Given the description of an element on the screen output the (x, y) to click on. 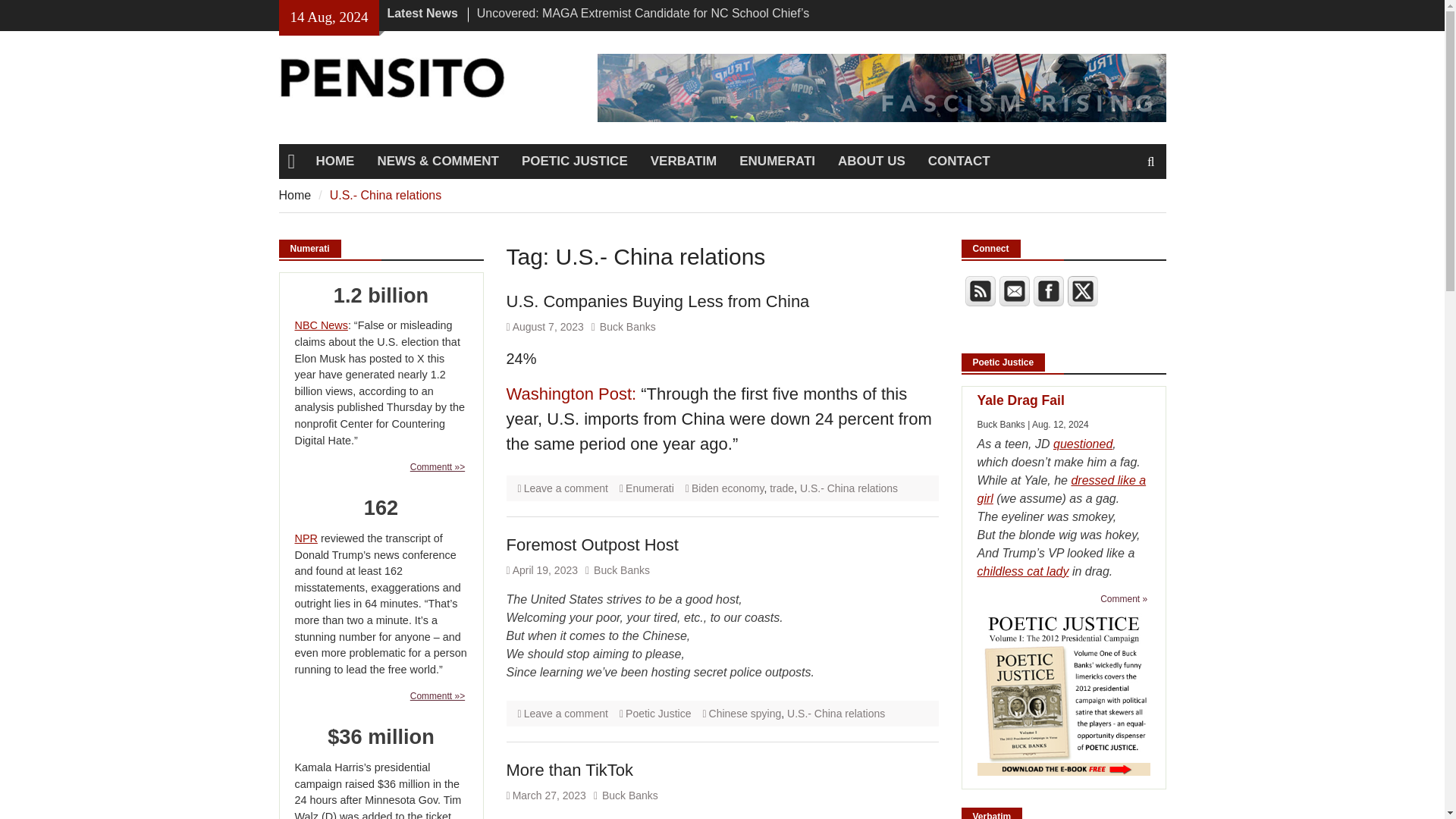
RSS (978, 291)
Facebook (1047, 291)
Enumerati (650, 488)
Buck Banks (627, 326)
Follow by Email (1013, 291)
POETIC JUSTICE (575, 161)
HOME (334, 161)
CONTACT (959, 161)
Leave a comment (566, 488)
ENUMERATI (777, 161)
